Given the description of an element on the screen output the (x, y) to click on. 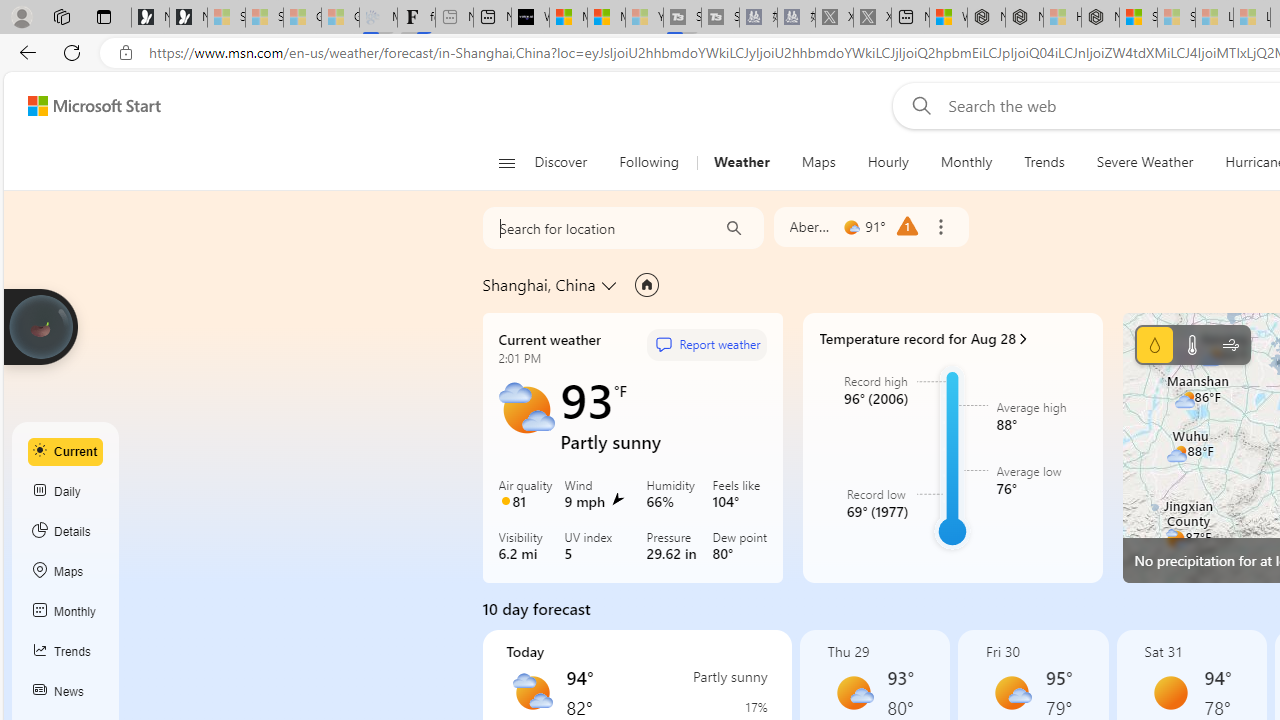
Severe Weather (1144, 162)
Join us in planting real trees to help our planet! (40, 325)
Class: aqiColorCycle-DS-EntryPoint1-1 (505, 499)
UV index 5 (601, 548)
